Given the description of an element on the screen output the (x, y) to click on. 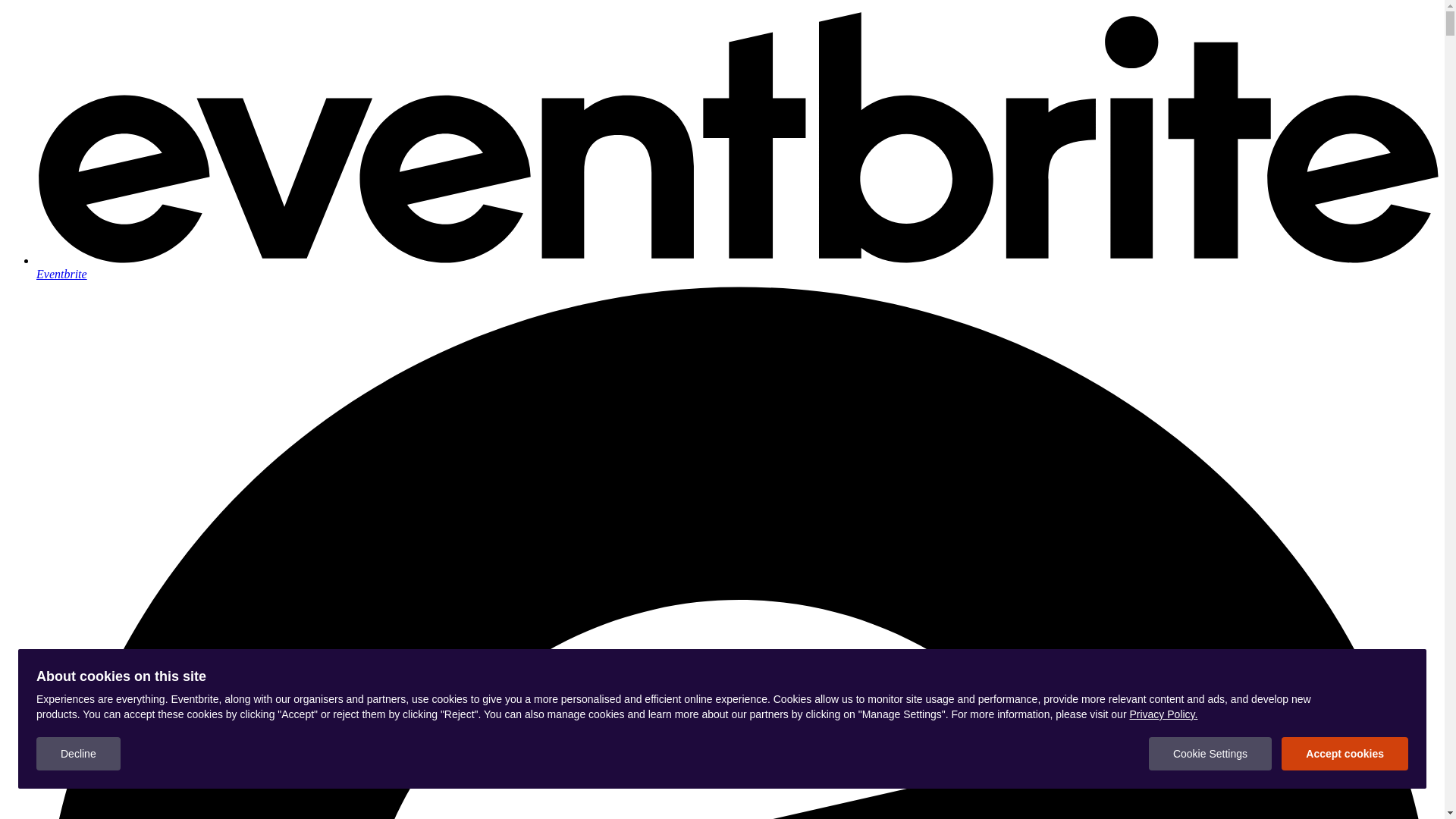
Accept cookies Element type: text (1344, 753)
Cookie Settings Element type: text (1209, 753)
Eventbrite Element type: text (737, 267)
Decline Element type: text (78, 753)
Privacy Policy. Element type: text (1163, 714)
